Given the description of an element on the screen output the (x, y) to click on. 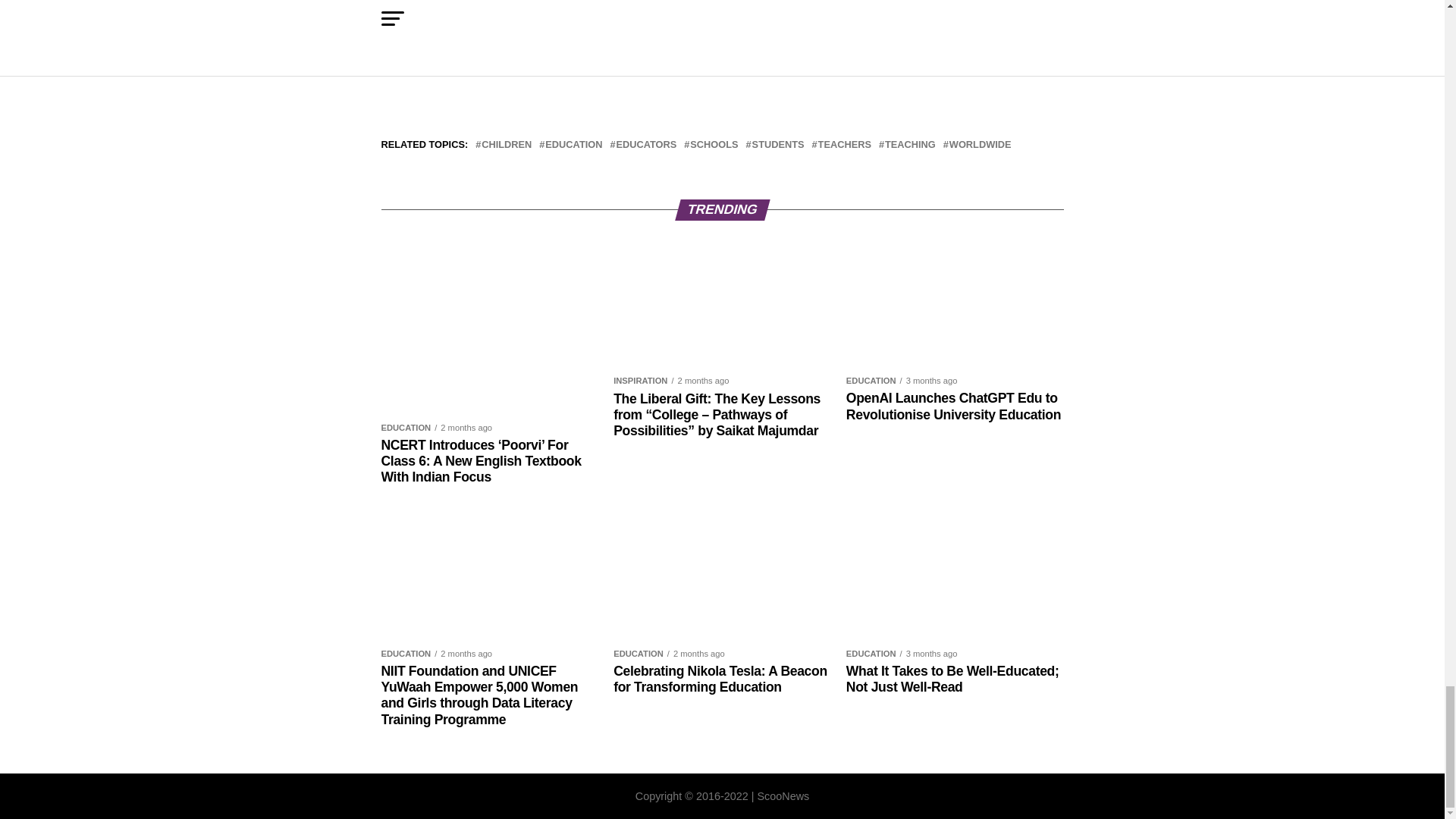
WORLDWIDE (980, 144)
EDUCATORS (646, 144)
STUDENTS (778, 144)
TEACHERS (844, 144)
CHILDREN (506, 144)
EDUCATION (573, 144)
SCHOOLS (714, 144)
TEACHING (910, 144)
